Given the description of an element on the screen output the (x, y) to click on. 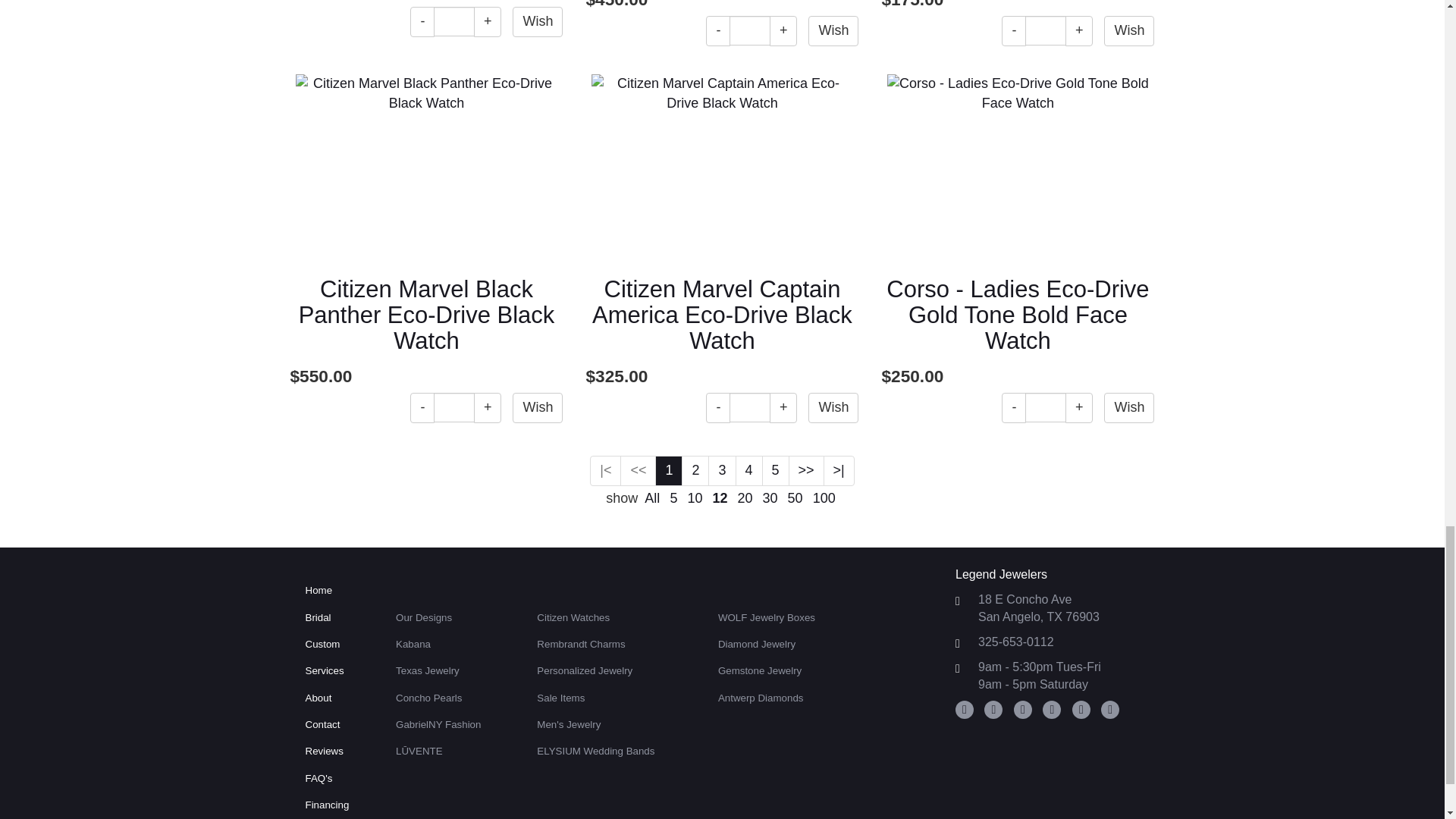
Wish (537, 21)
Wish (833, 30)
Wish (1128, 30)
